Given the description of an element on the screen output the (x, y) to click on. 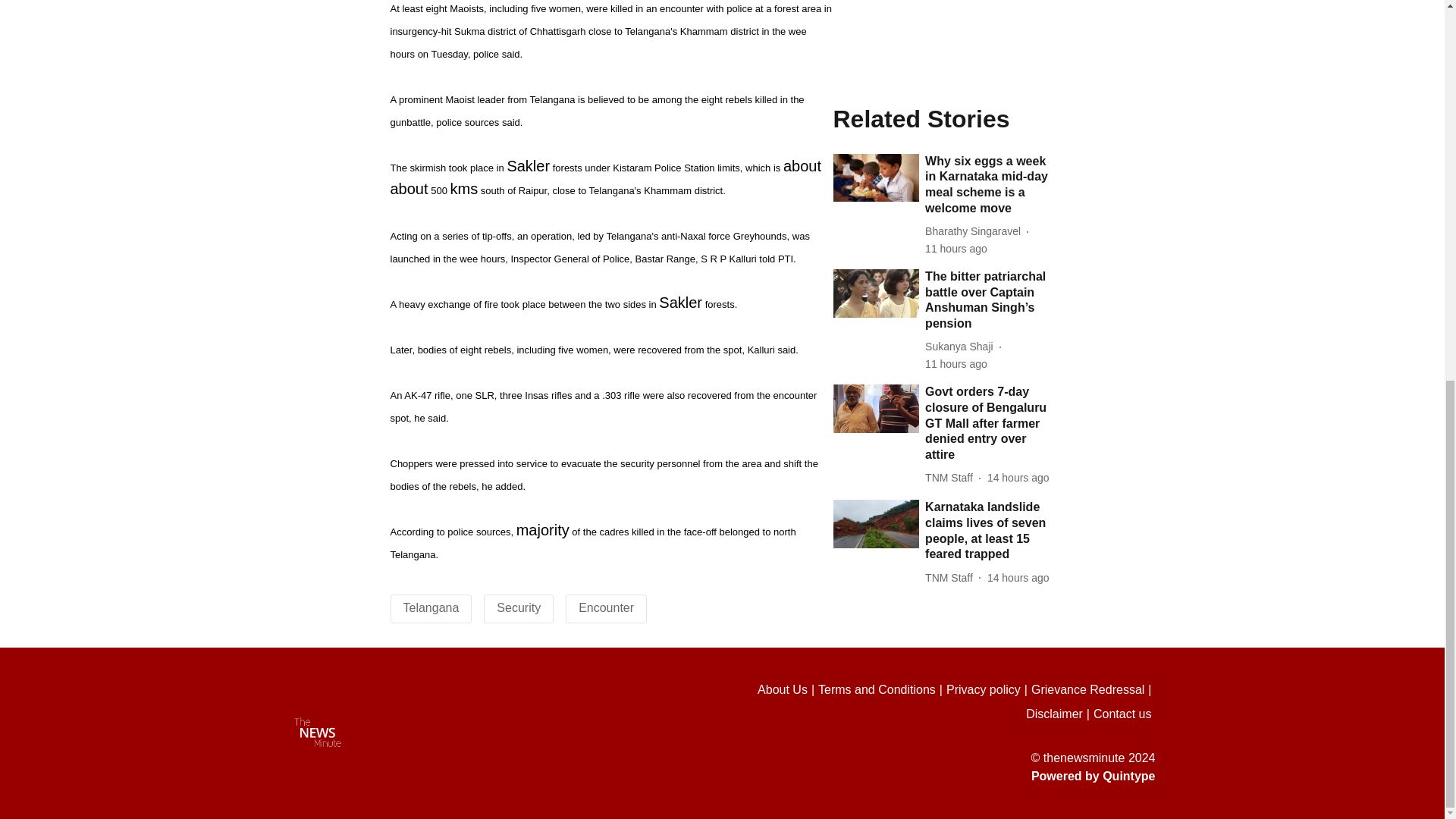
Telangana (431, 606)
TNM Staff (951, 13)
About Us (787, 689)
2024-07-18 10:47 (1018, 13)
TNM Staff (951, 114)
2024-07-18 10:26 (1018, 114)
Security (518, 606)
Encounter (605, 606)
